Given the description of an element on the screen output the (x, y) to click on. 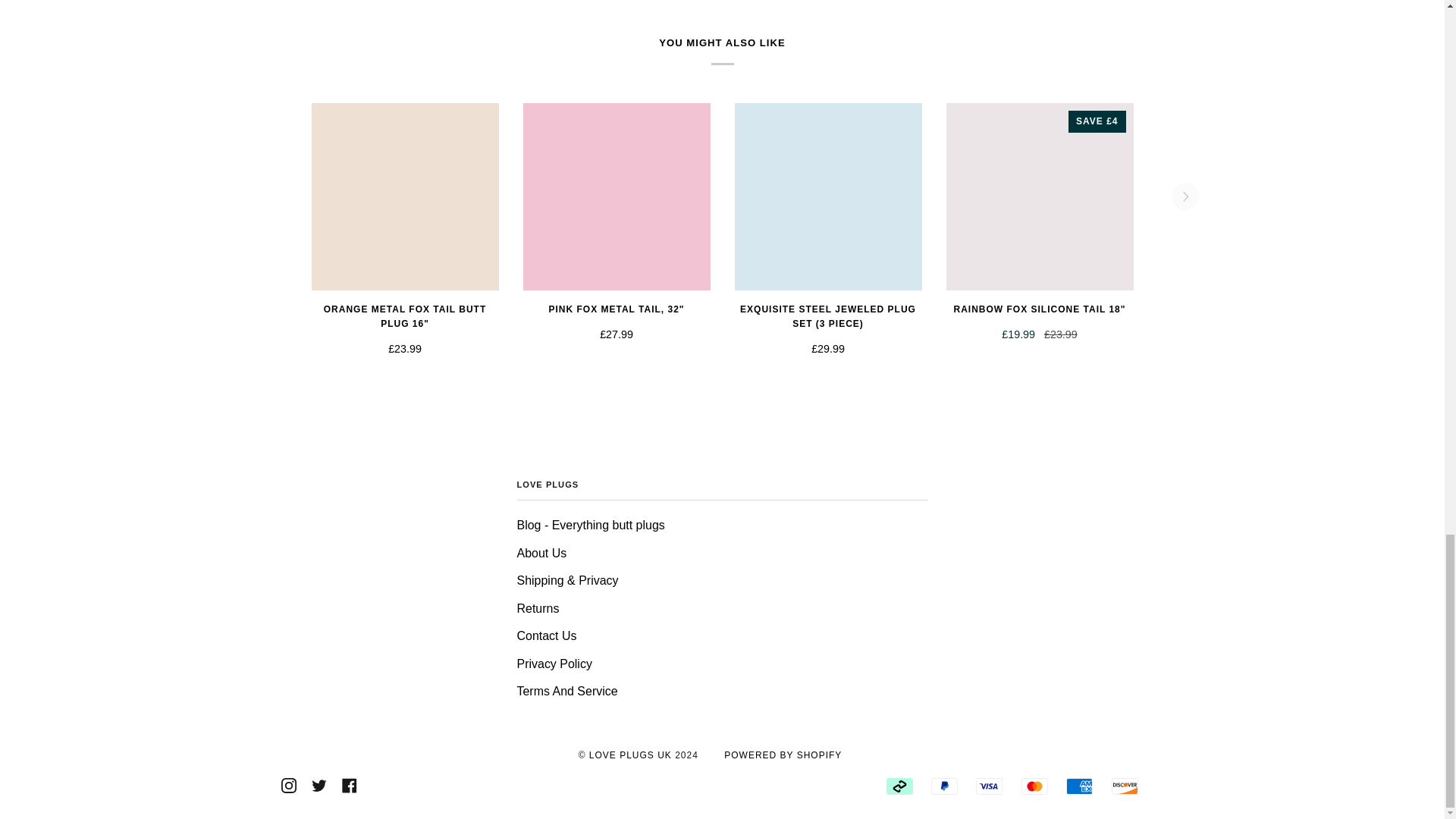
AFTERPAY (899, 786)
MASTERCARD (1035, 786)
PAYPAL (944, 786)
Twitter (318, 784)
Instagram (288, 784)
VISA (989, 786)
DISCOVER (1125, 786)
Facebook (349, 784)
AMERICAN EXPRESS (1079, 786)
